Given the description of an element on the screen output the (x, y) to click on. 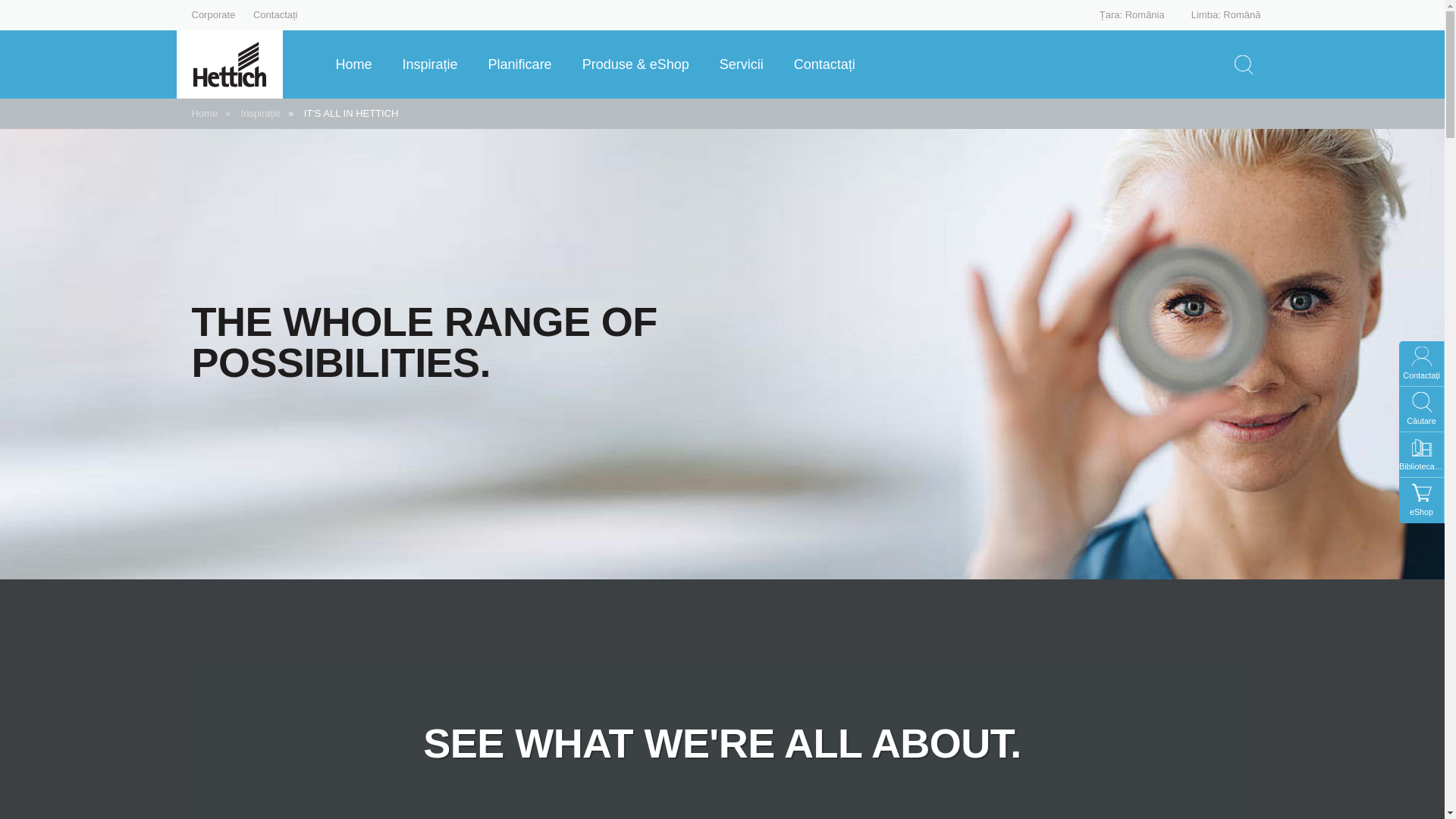
Planificare (525, 64)
Home (358, 64)
Corporate (212, 14)
